Given the description of an element on the screen output the (x, y) to click on. 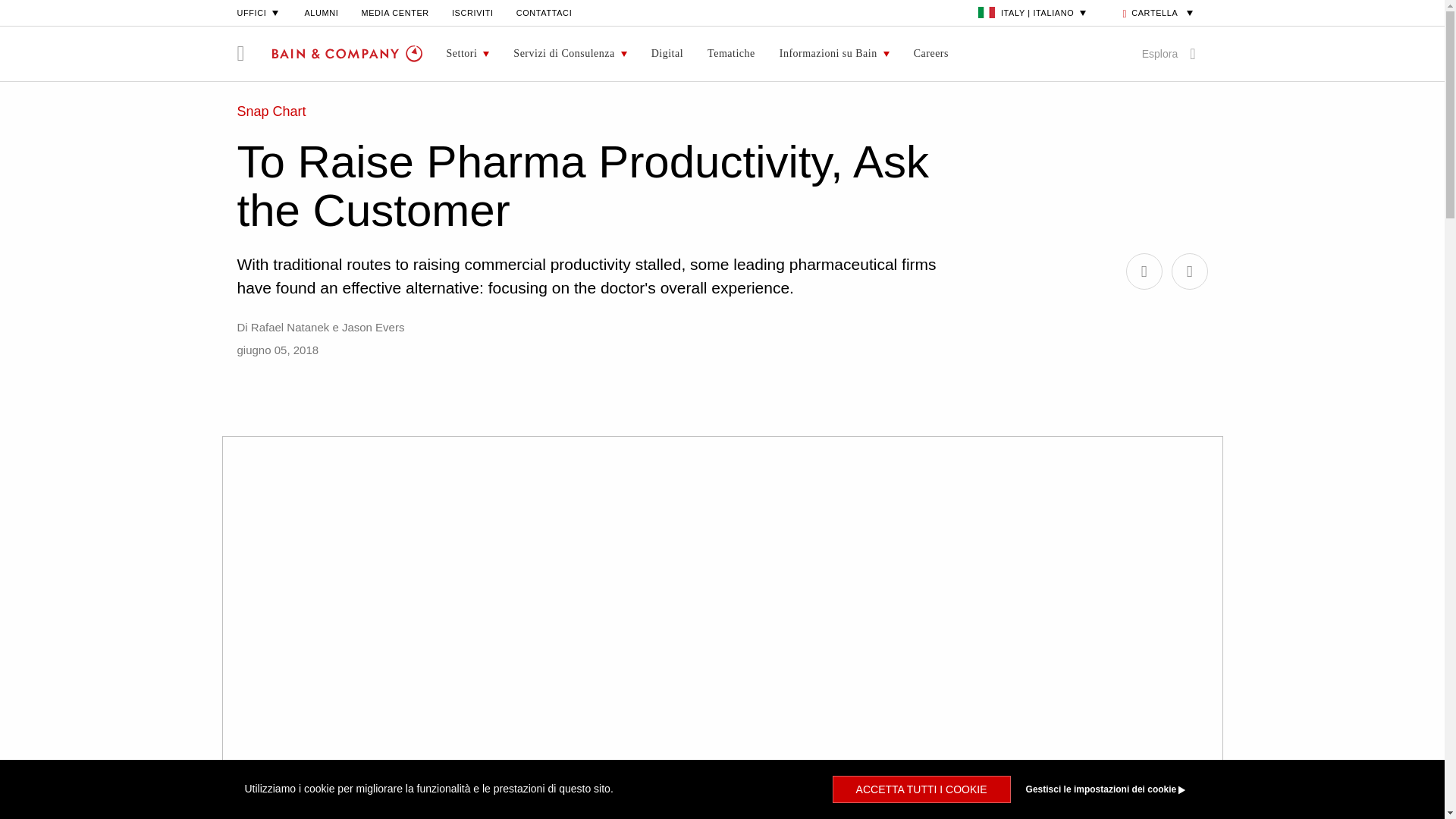
Gestisci le impostazioni dei cookie (1108, 789)
UFFICI (258, 12)
ACCETTA TUTTI I COOKIE (921, 789)
